Given the description of an element on the screen output the (x, y) to click on. 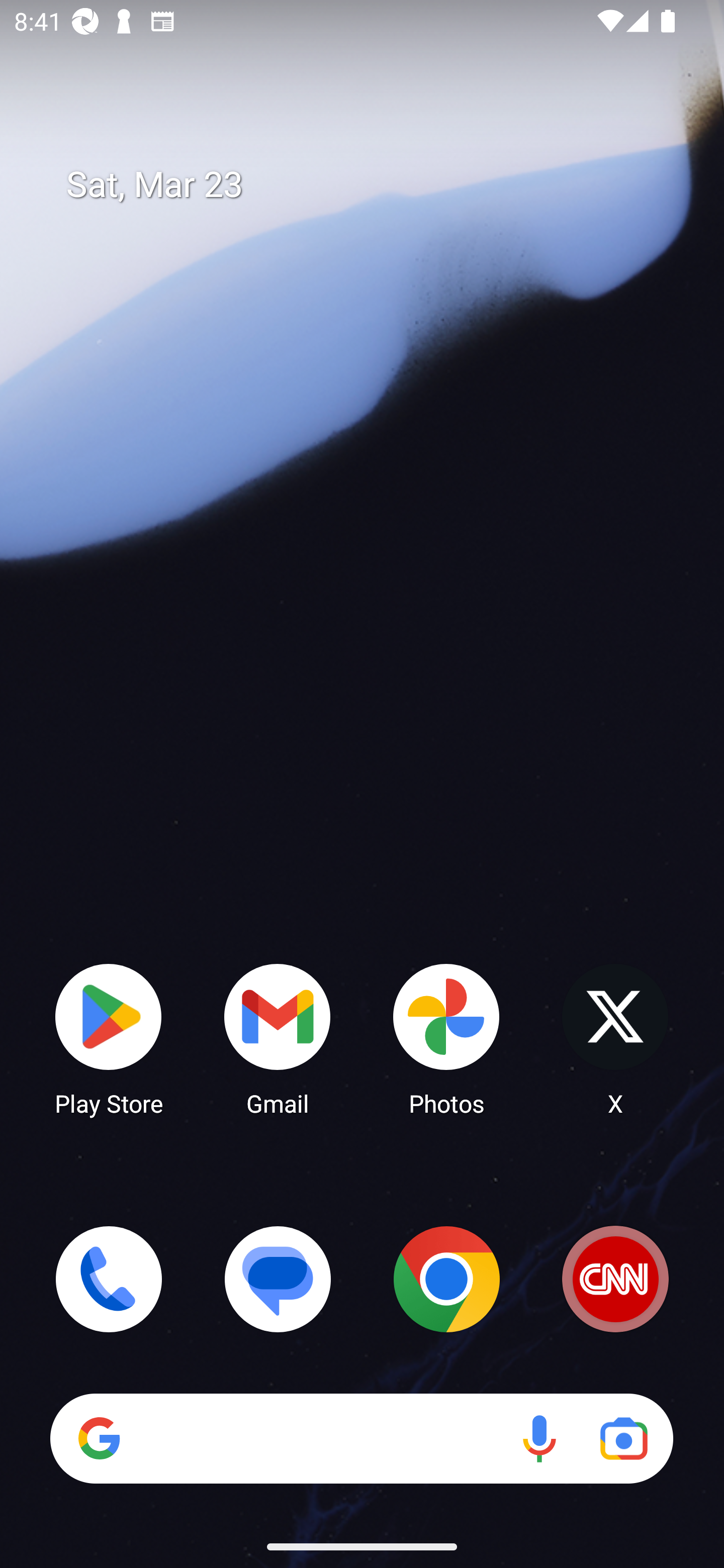
Sat, Mar 23 (375, 184)
Play Store (108, 1038)
Gmail (277, 1038)
Photos (445, 1038)
X (615, 1038)
Phone (108, 1279)
Messages (277, 1279)
Chrome (446, 1279)
CNN Predicted app: CNN (615, 1279)
Voice search (539, 1438)
Google Lens (623, 1438)
